Given the description of an element on the screen output the (x, y) to click on. 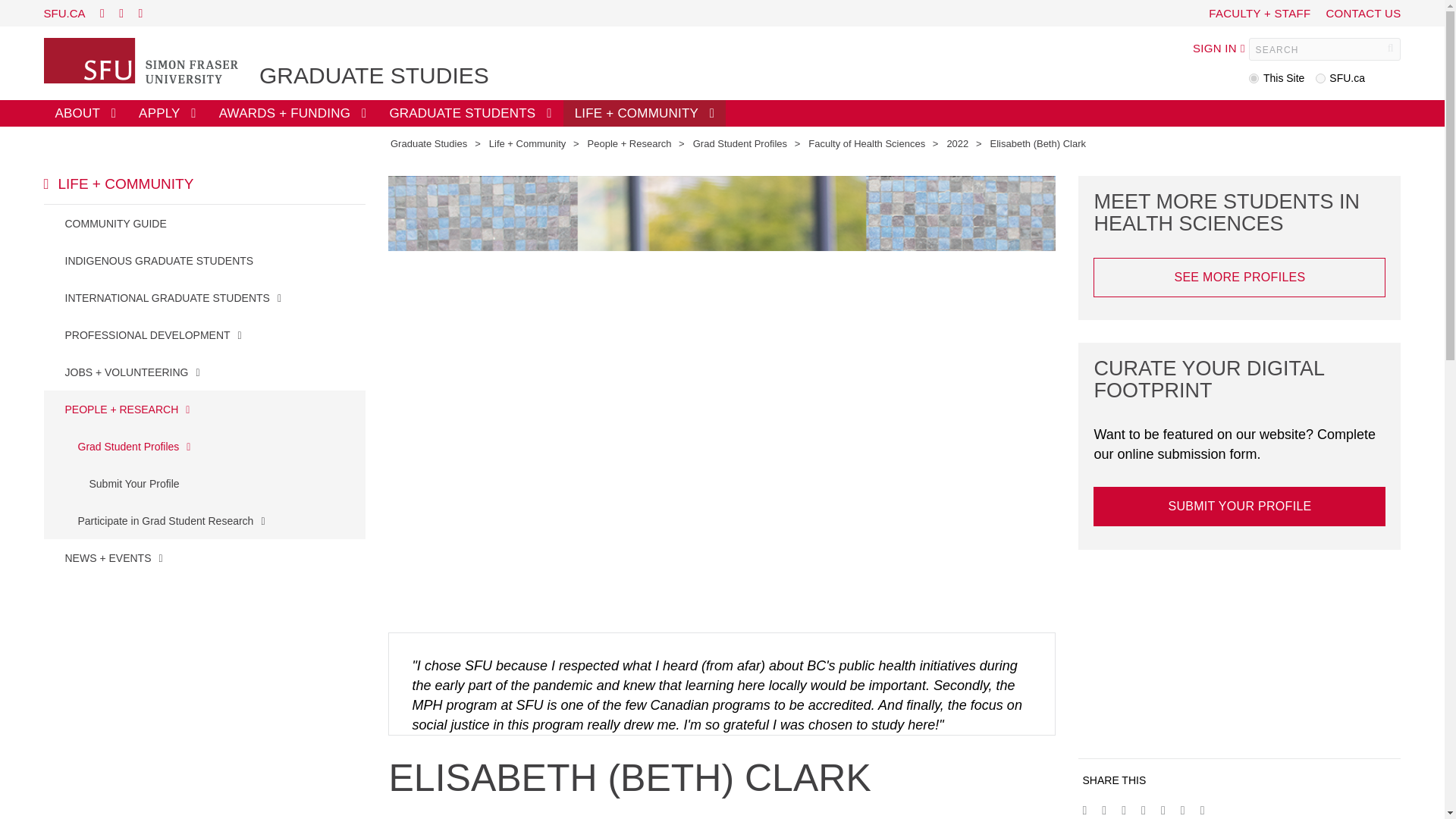
SFU.CA (64, 11)
GRADUATE STUDENTS (469, 112)
ABOUT (85, 112)
GRADUATE STUDIES (374, 75)
CONTACT US (1362, 11)
sfu (1320, 78)
site (1254, 78)
Contact Us (1362, 11)
APPLY (168, 112)
